Given the description of an element on the screen output the (x, y) to click on. 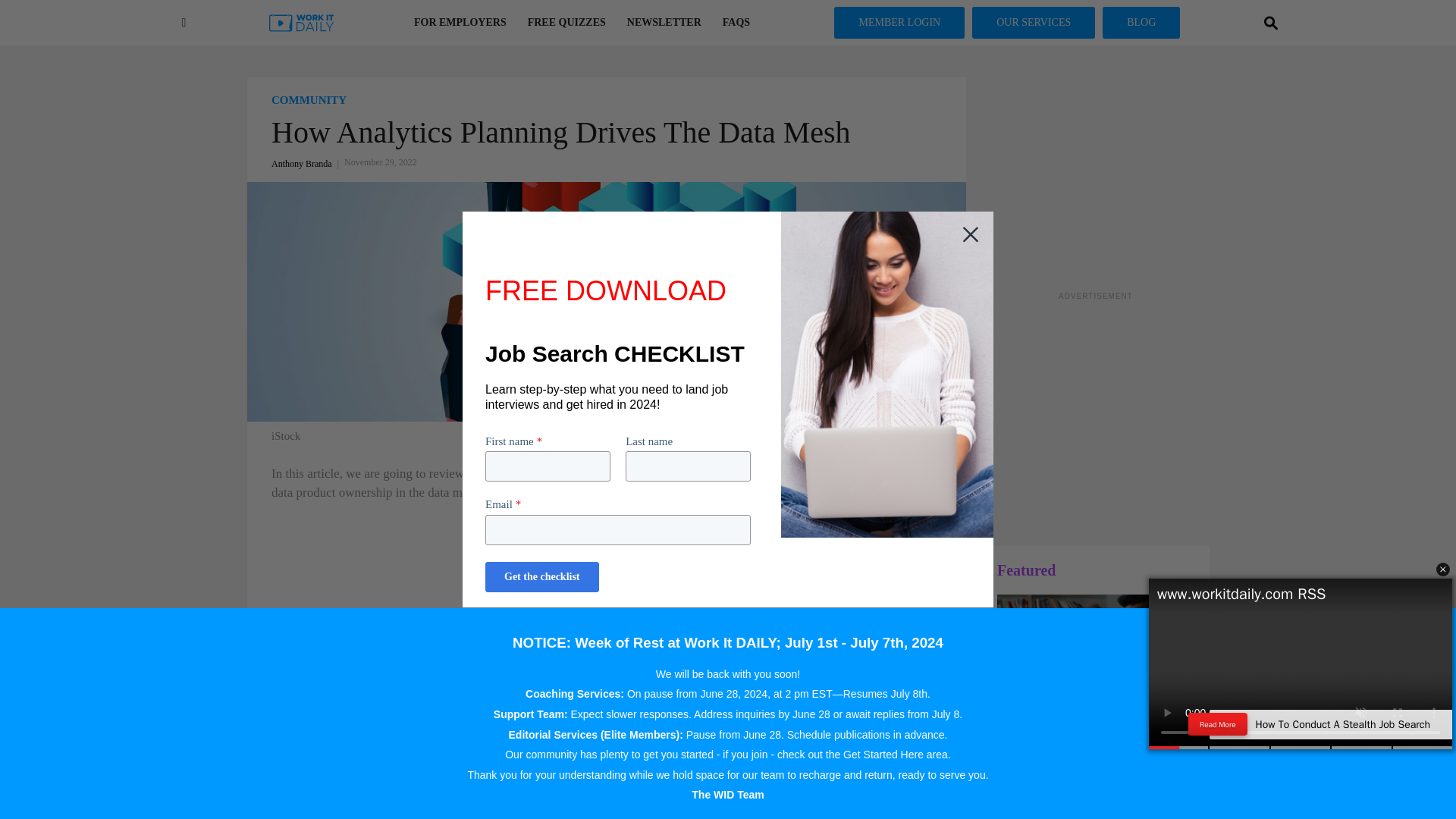
BLOG (1140, 22)
Anthony Branda (306, 163)
Read More (1218, 724)
MEMBER LOGIN (898, 22)
FAQS (735, 22)
FOR EMPLOYERS (459, 22)
COMMUNITY (606, 99)
FREE QUIZZES (565, 22)
OUR SERVICES (1033, 22)
NEWSLETTER (663, 22)
